Given the description of an element on the screen output the (x, y) to click on. 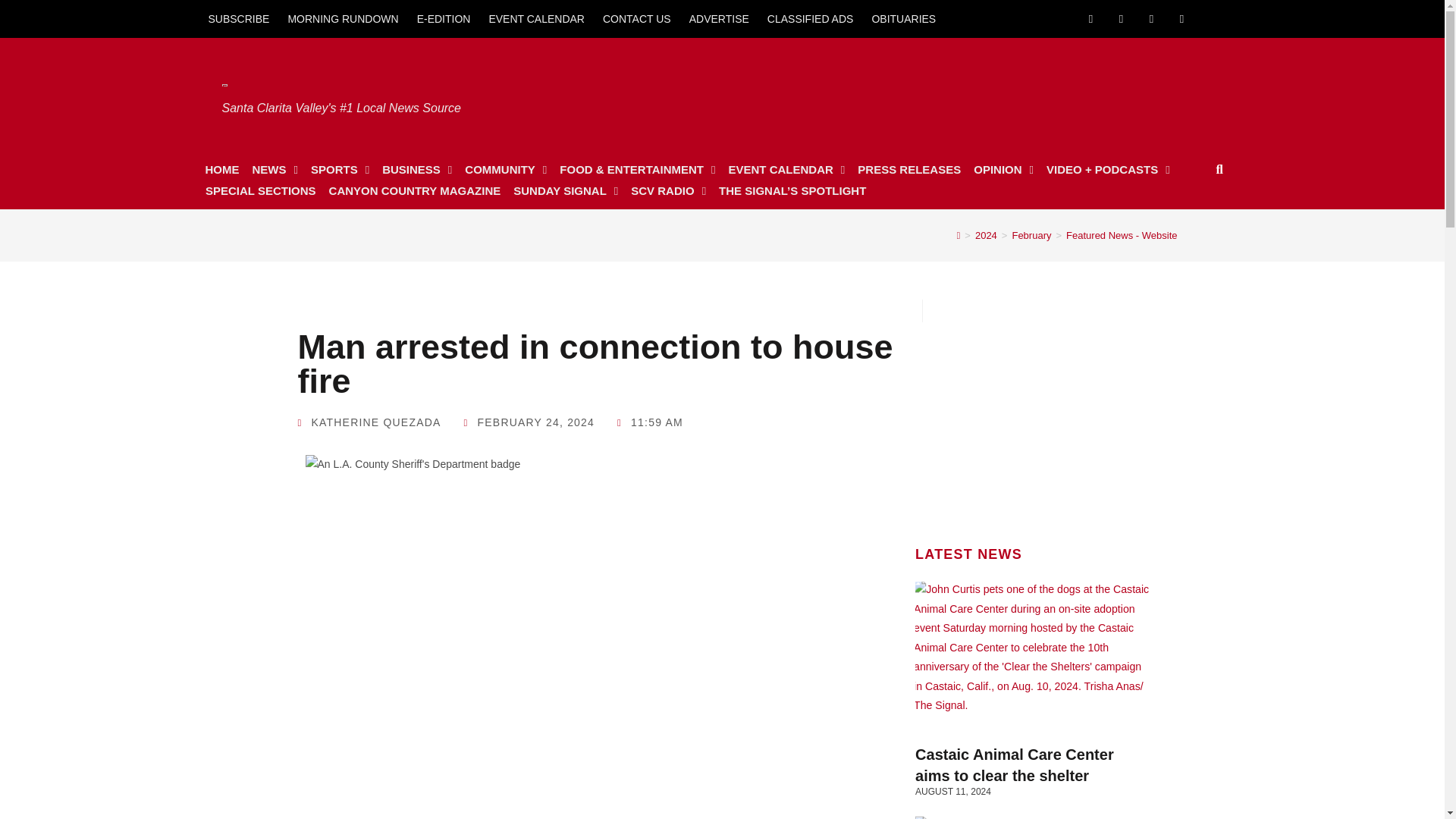
3rd party ad content (1031, 416)
SPORTS (339, 169)
MORNING RUNDOWN (342, 18)
NEWS (274, 169)
OBITUARIES (902, 18)
3rd party ad content (932, 94)
CONTACT US (636, 18)
SUBSCRIBE (238, 18)
E-EDITION (443, 18)
EVENT CALENDAR (536, 18)
